Given the description of an element on the screen output the (x, y) to click on. 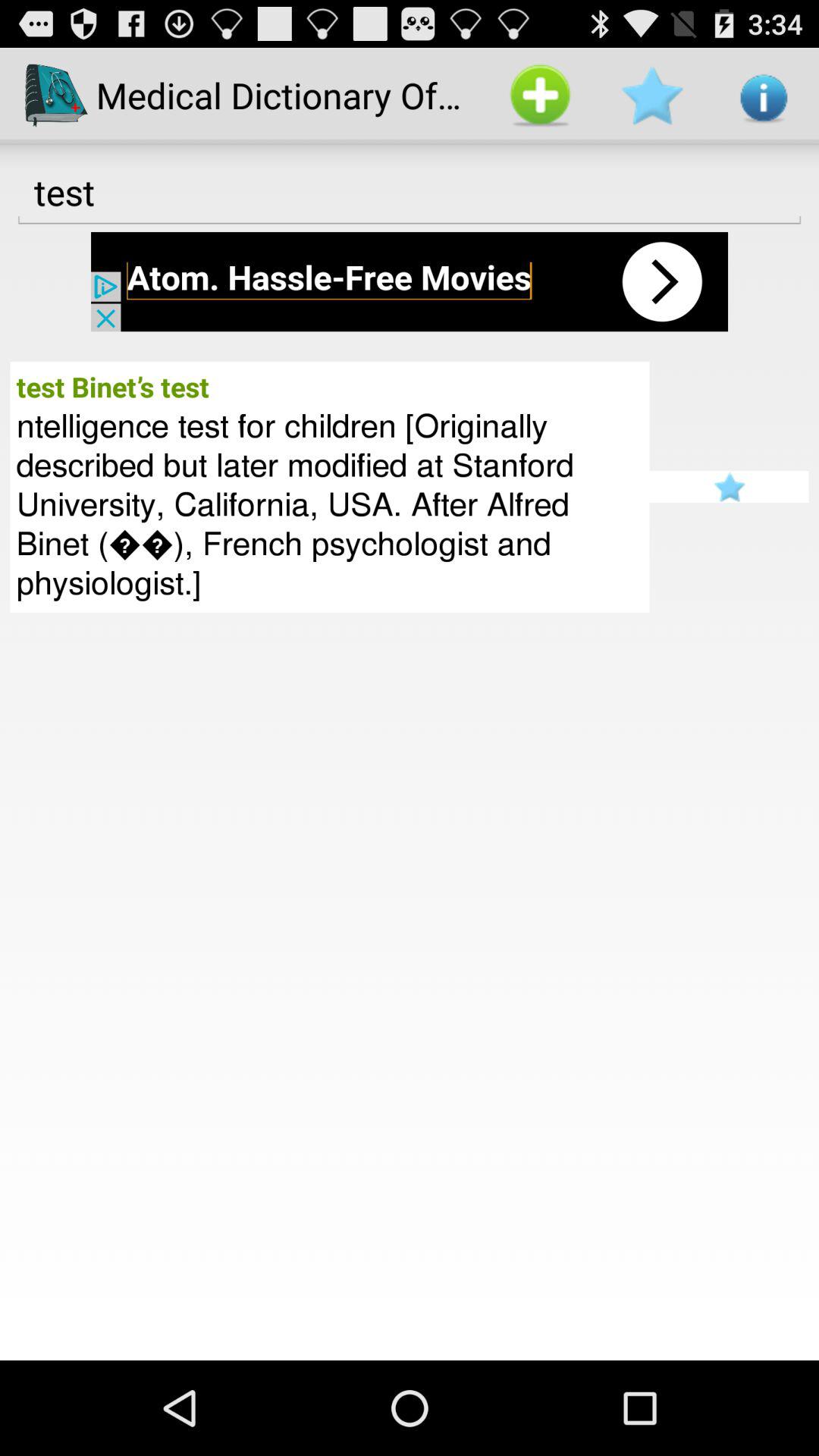
open app (409, 281)
